Given the description of an element on the screen output the (x, y) to click on. 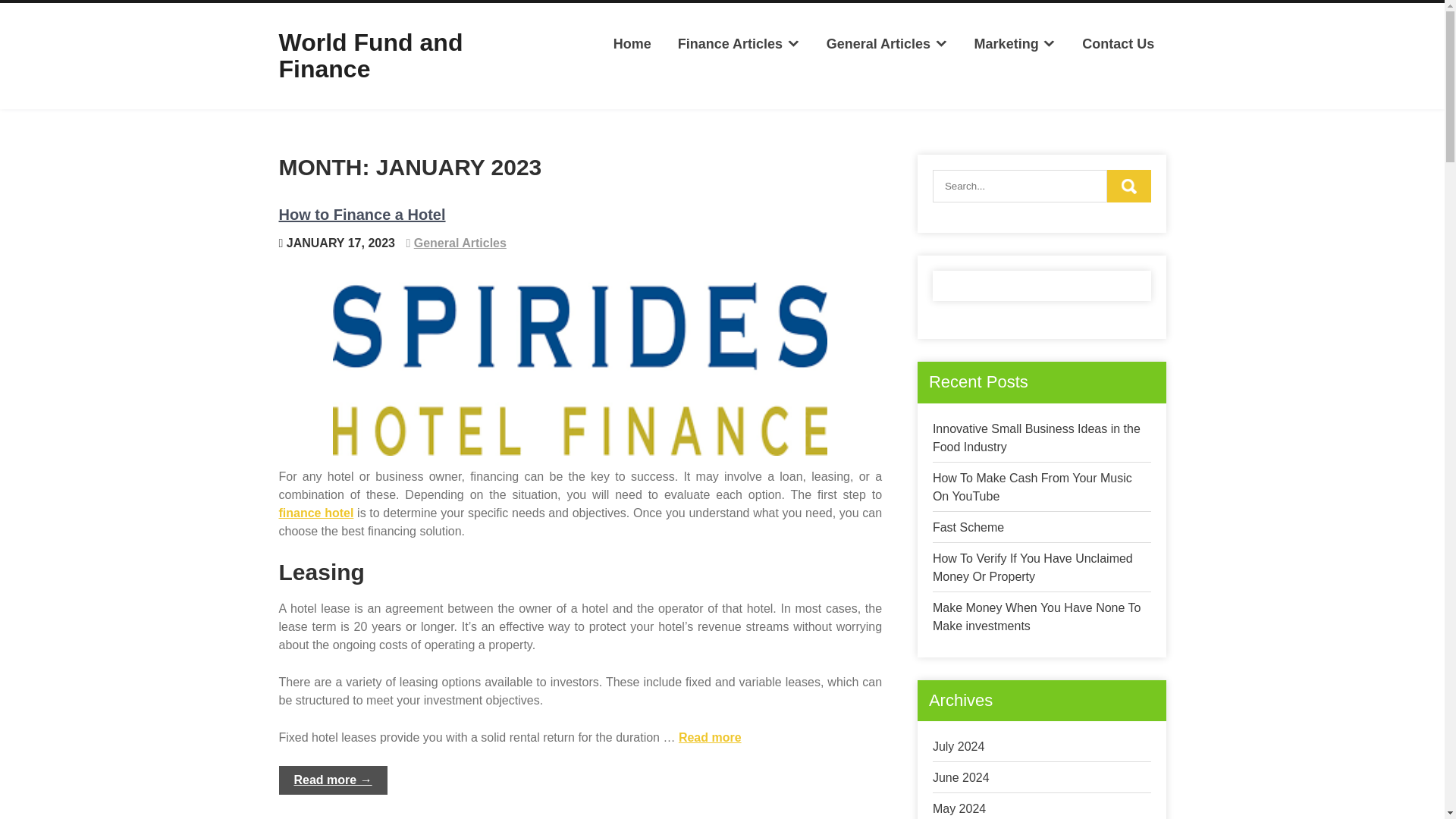
Search (1128, 185)
Marketing (1014, 44)
Finance Articles (737, 44)
Read more (709, 737)
Contact Us (1118, 44)
World Fund and Finance (371, 55)
How to Finance a Hotel (362, 214)
finance hotel (316, 512)
Search (1128, 185)
General Articles (886, 44)
General Articles (459, 242)
Home (631, 44)
